Given the description of an element on the screen output the (x, y) to click on. 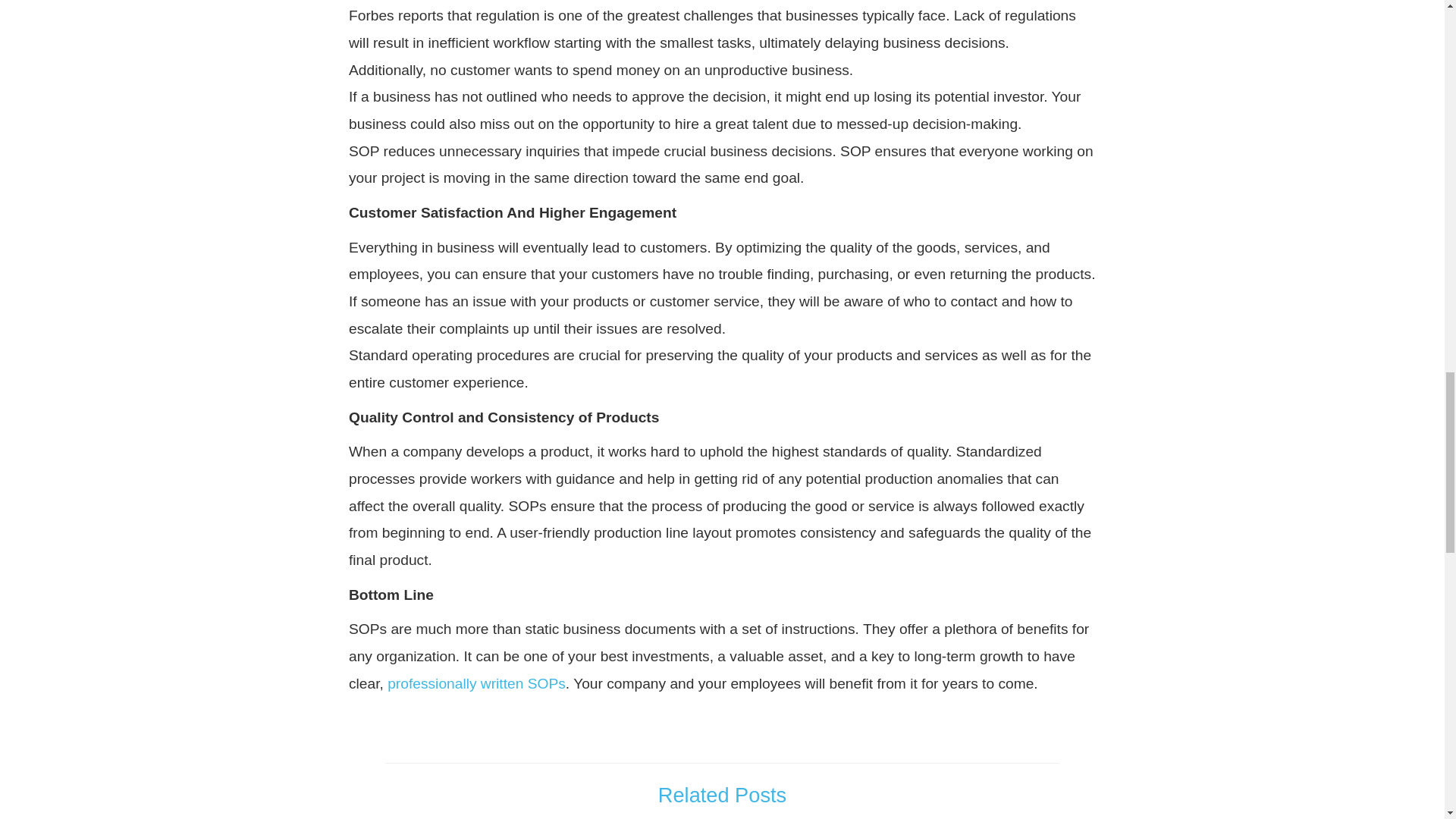
professionally written SOPs (476, 683)
